Given the description of an element on the screen output the (x, y) to click on. 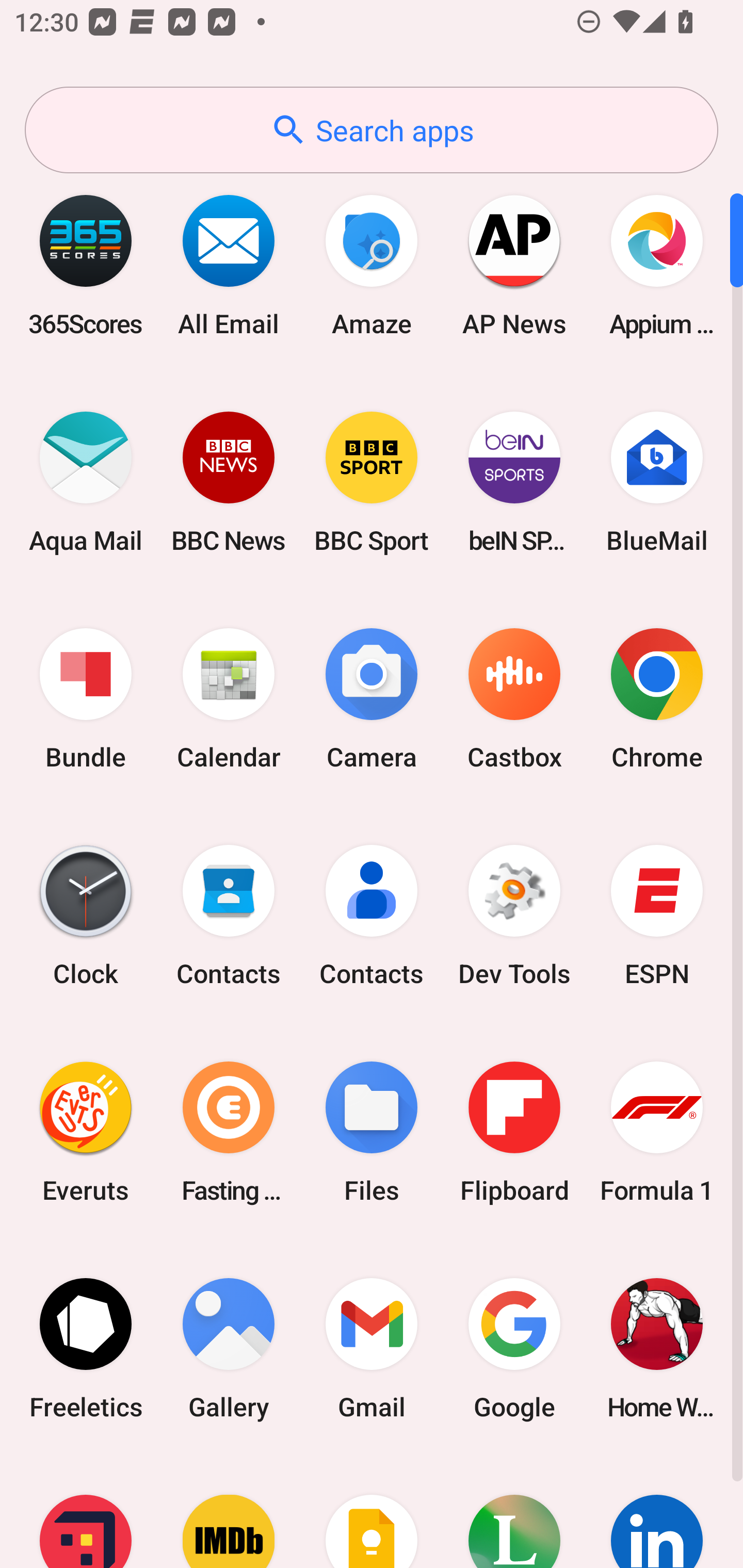
  Search apps (371, 130)
365Scores (85, 264)
All Email (228, 264)
Amaze (371, 264)
AP News (514, 264)
Appium Settings (656, 264)
Aqua Mail (85, 482)
BBC News (228, 482)
BBC Sport (371, 482)
beIN SPORTS (514, 482)
BlueMail (656, 482)
Bundle (85, 699)
Calendar (228, 699)
Camera (371, 699)
Castbox (514, 699)
Chrome (656, 699)
Clock (85, 915)
Contacts (228, 915)
Contacts (371, 915)
Dev Tools (514, 915)
ESPN (656, 915)
Everuts (85, 1131)
Fasting Coach (228, 1131)
Files (371, 1131)
Flipboard (514, 1131)
Formula 1 (656, 1131)
Freeletics (85, 1348)
Gallery (228, 1348)
Gmail (371, 1348)
Google (514, 1348)
Home Workout (656, 1348)
Hotels.com (85, 1512)
IMDb (228, 1512)
Keep Notes (371, 1512)
Lifesum (514, 1512)
LinkedIn (656, 1512)
